Given the description of an element on the screen output the (x, y) to click on. 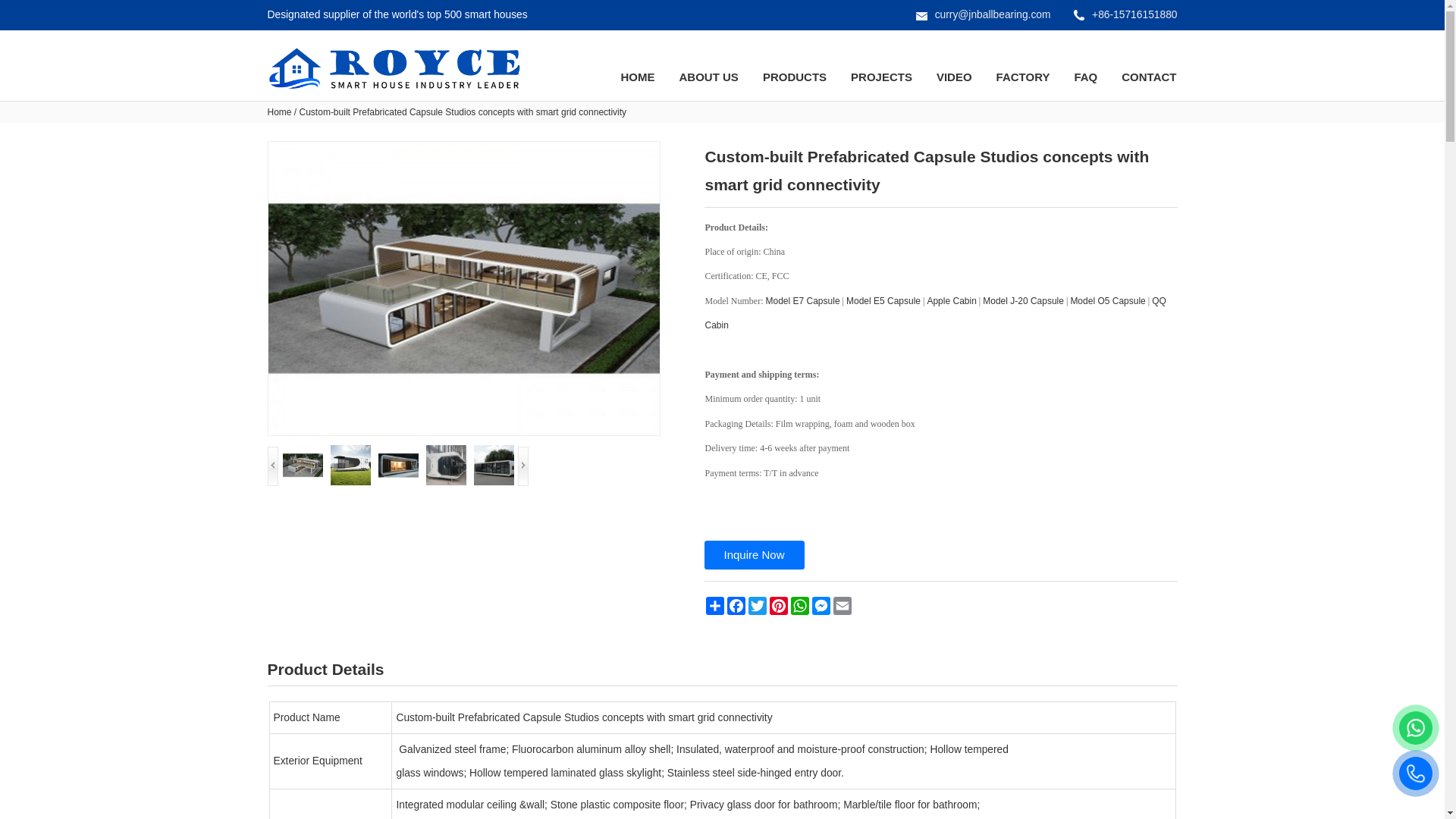
PRODUCTS (794, 76)
Model E7 Capsule (802, 300)
FACTORY (1023, 76)
Model J-20 Capsule (1023, 300)
WhatsApp (799, 606)
Twitter (756, 606)
Model E7 Capsule (802, 300)
Model O5 Capsule (1107, 300)
Model J-20 Capsule (1023, 300)
Apple Cabin (950, 300)
Model O5 Capsule (1107, 300)
PROJECTS (881, 76)
Email (841, 606)
QQ Cabin (935, 312)
ABOUT US (708, 76)
